Given the description of an element on the screen output the (x, y) to click on. 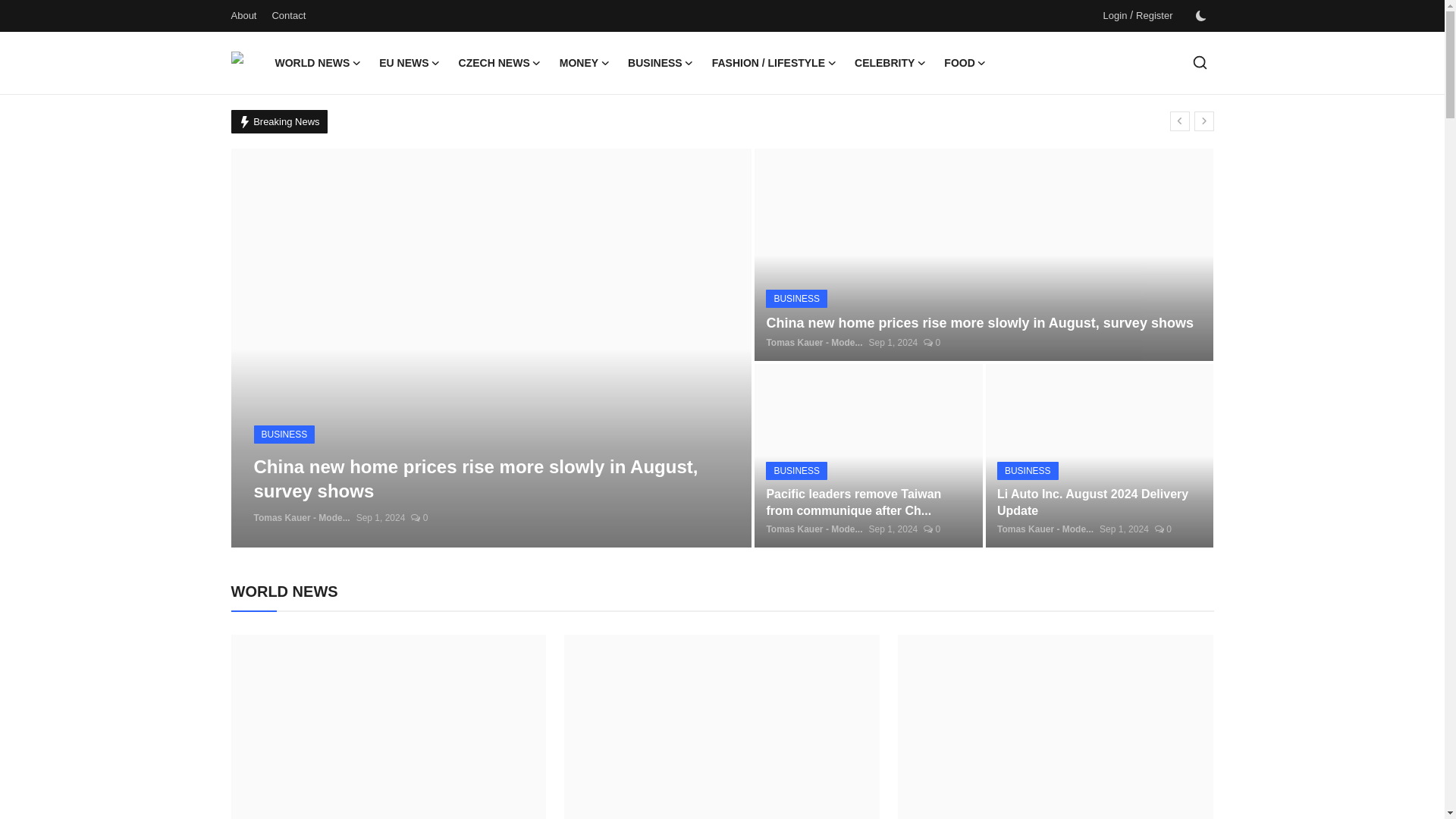
About (243, 15)
BUSINESS (660, 62)
MONEY (584, 62)
dark (1200, 15)
CZECH NEWS (499, 62)
Contact (287, 15)
WORLD NEWS (316, 62)
CELEBRITY (889, 62)
Login (1114, 15)
EU NEWS (408, 62)
